Given the description of an element on the screen output the (x, y) to click on. 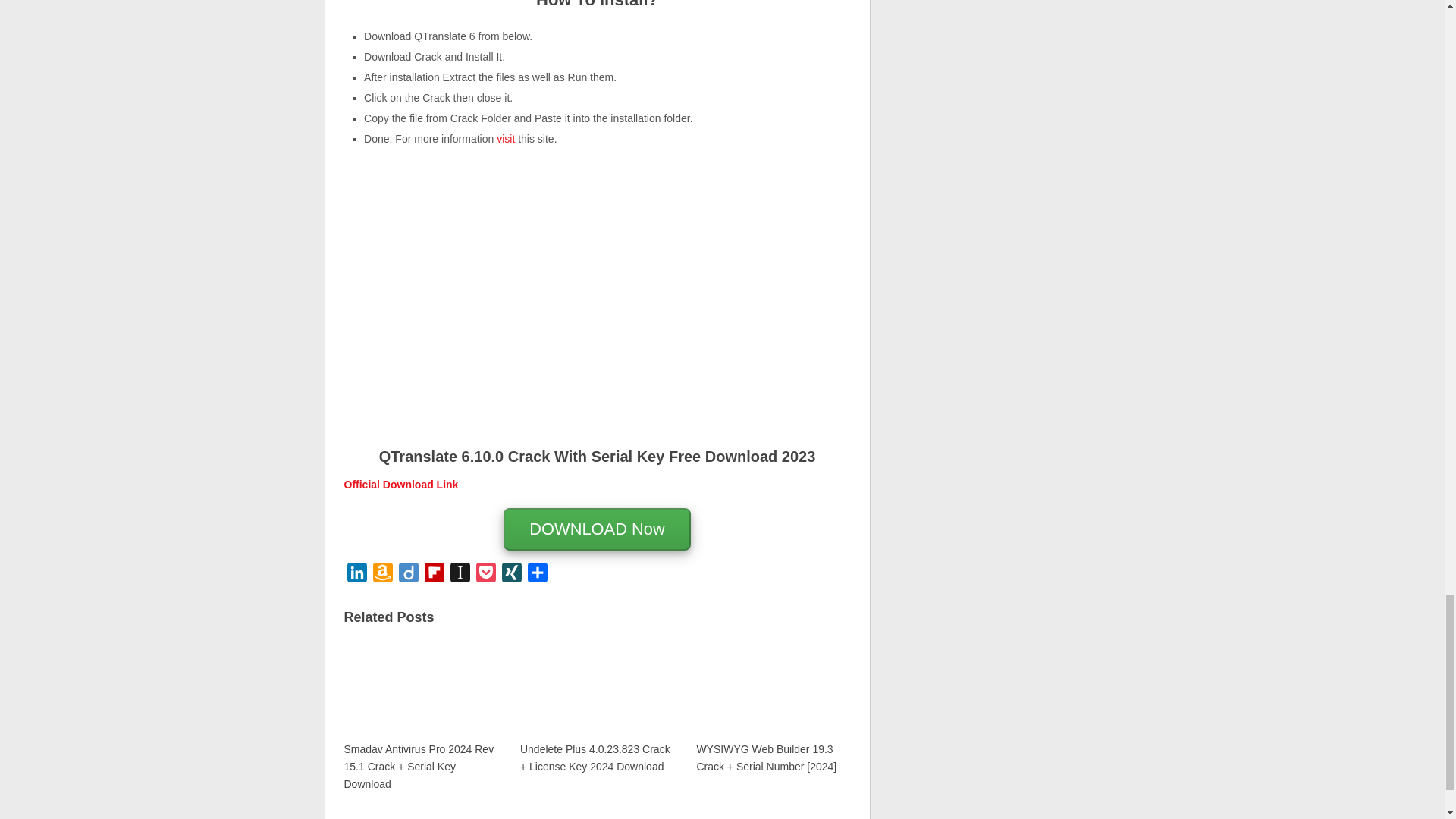
Official Download Link (400, 484)
Flipboard (434, 575)
Pocket (486, 575)
LinkedIn (356, 575)
Diigo (409, 575)
Diigo (409, 575)
Instapaper (459, 575)
XING (511, 575)
Amazon Wish List (382, 575)
Flipboard (434, 575)
Amazon Wish List (382, 575)
XING (511, 575)
visit (505, 138)
Instapaper (459, 575)
Pocket (486, 575)
